Given the description of an element on the screen output the (x, y) to click on. 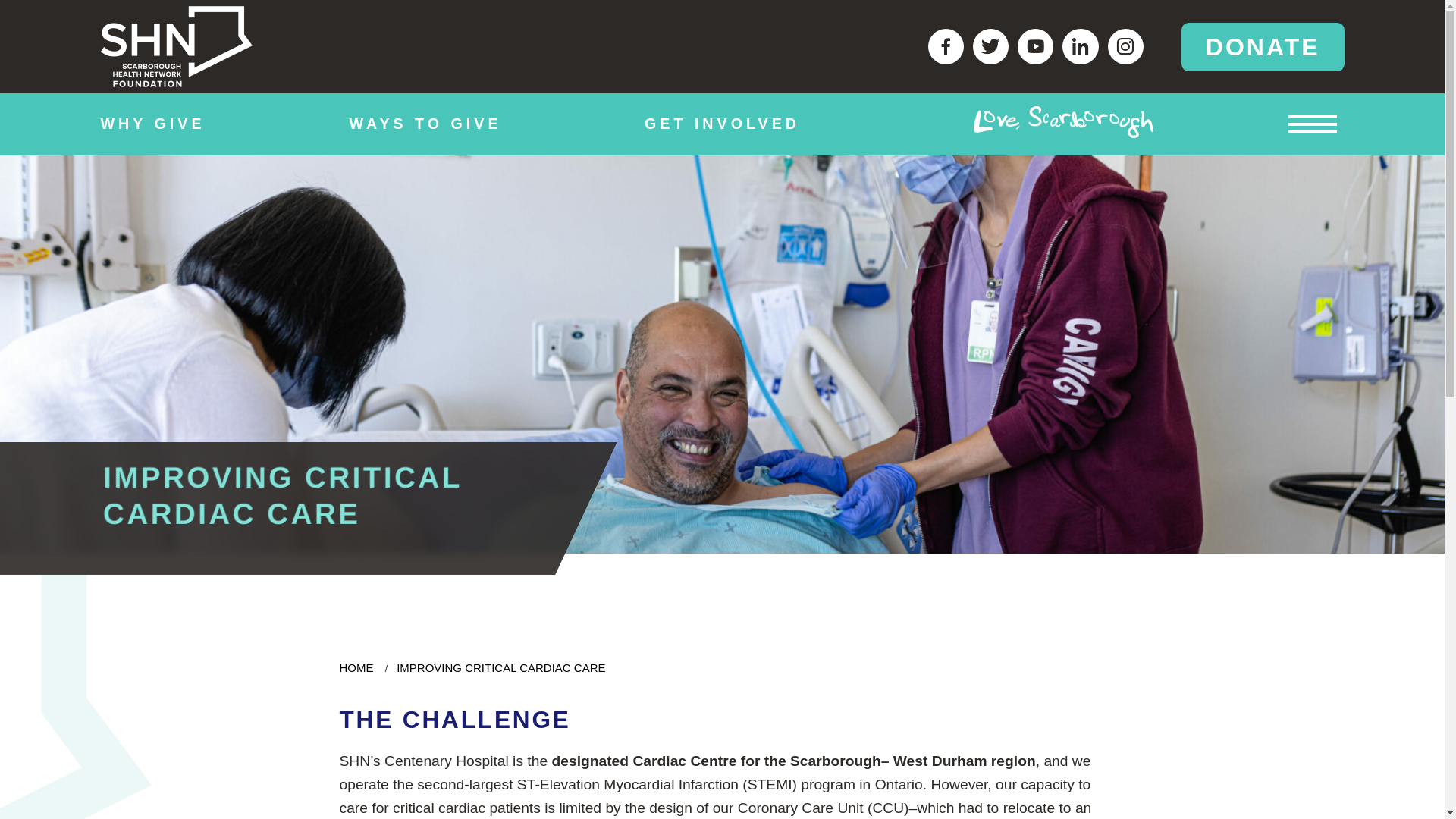
OPEN MAIN MENU (1312, 124)
WAYS TO GIVE (424, 124)
DONATE (1261, 46)
WHY GIVE (152, 124)
GET INVOLVED (722, 124)
